Given the description of an element on the screen output the (x, y) to click on. 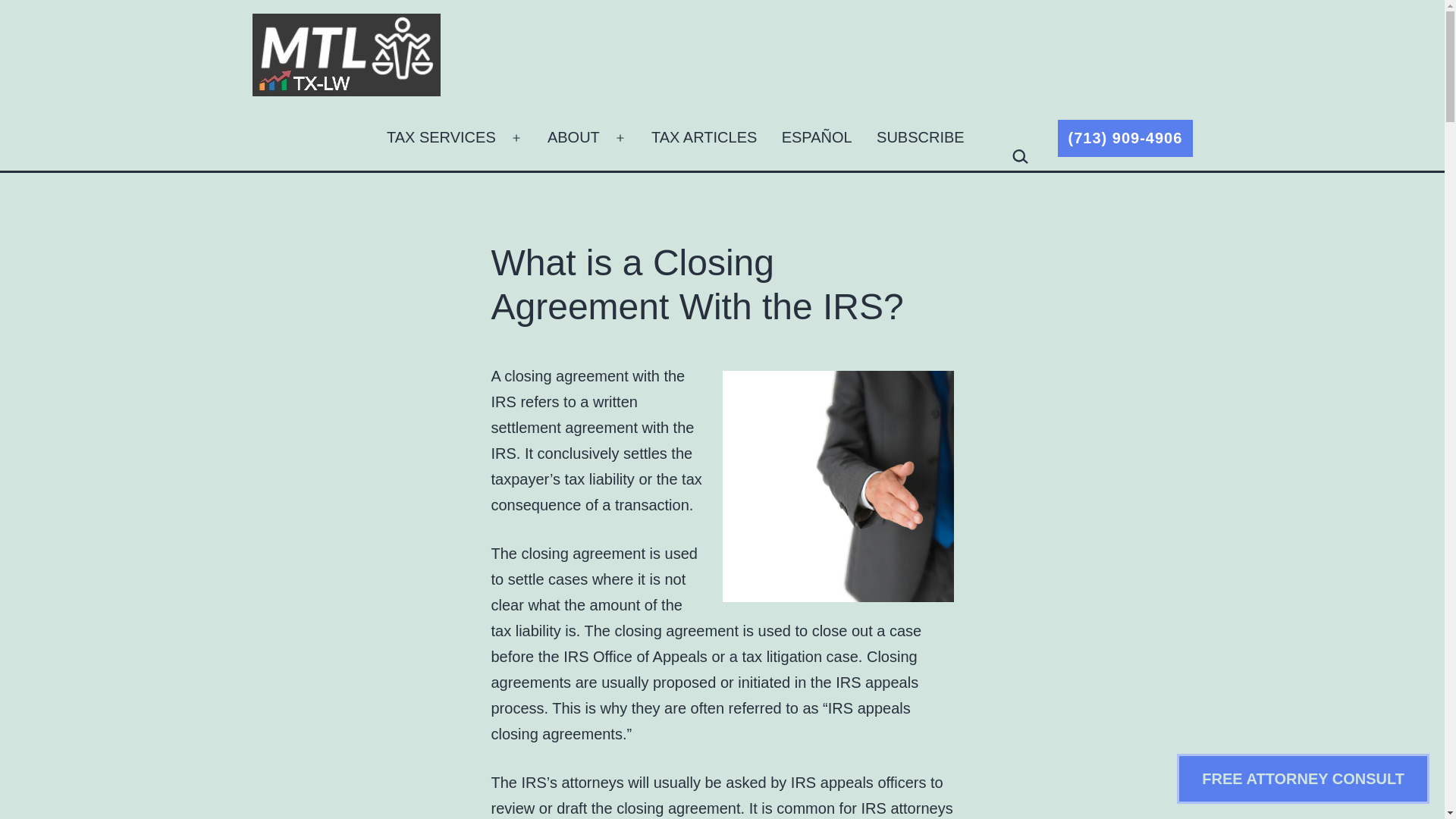
SUBSCRIBE (920, 137)
TAX ARTICLES (704, 137)
ABOUT (573, 137)
TAX SERVICES (441, 137)
FREE ATTORNEY CONSULT (1302, 778)
